Given the description of an element on the screen output the (x, y) to click on. 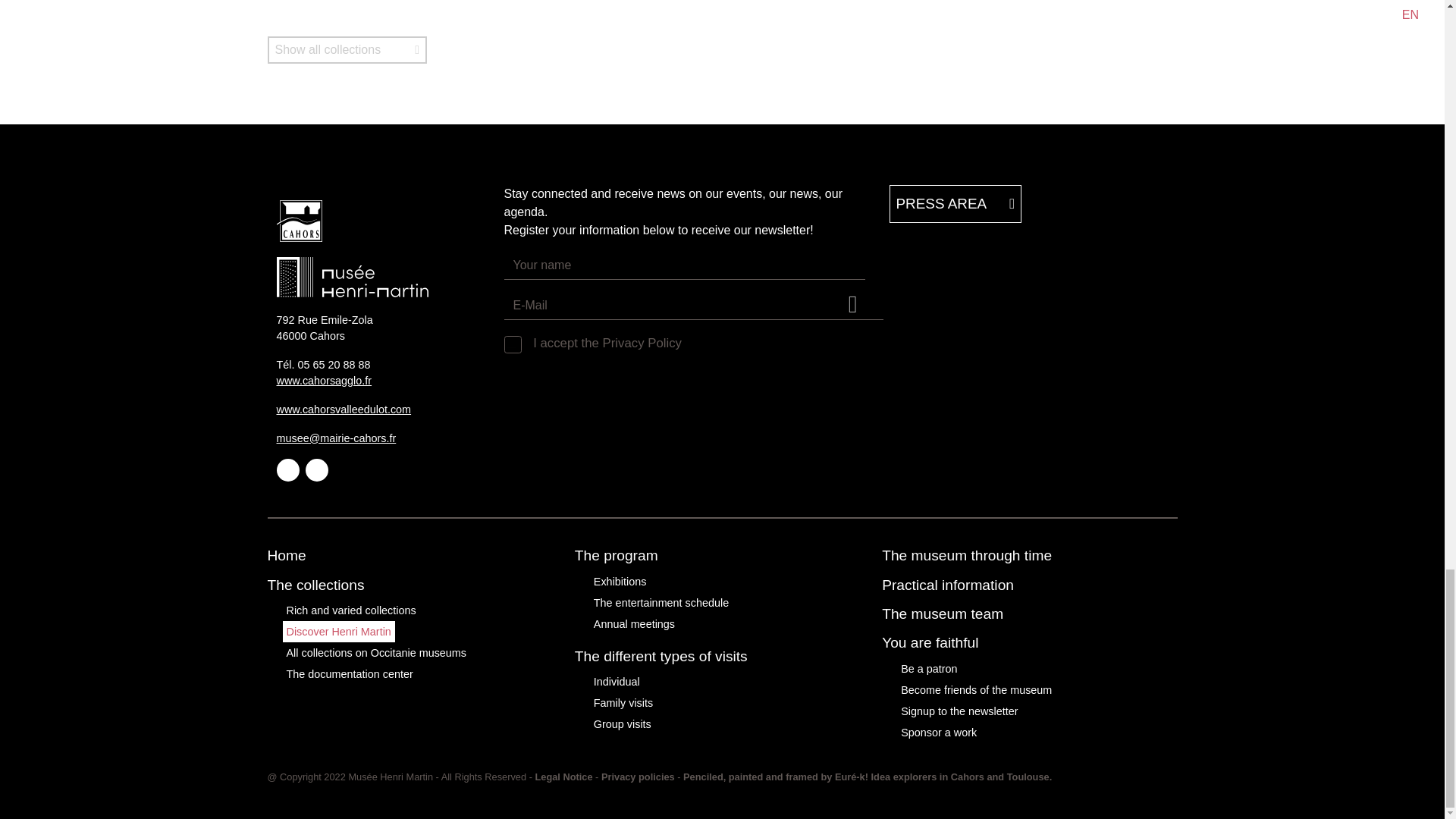
www.cahorsagglo.fr (323, 380)
Image (380, 220)
1 (509, 341)
Show all collections (346, 49)
www.cahorsvalleedulot.com (343, 409)
